Given the description of an element on the screen output the (x, y) to click on. 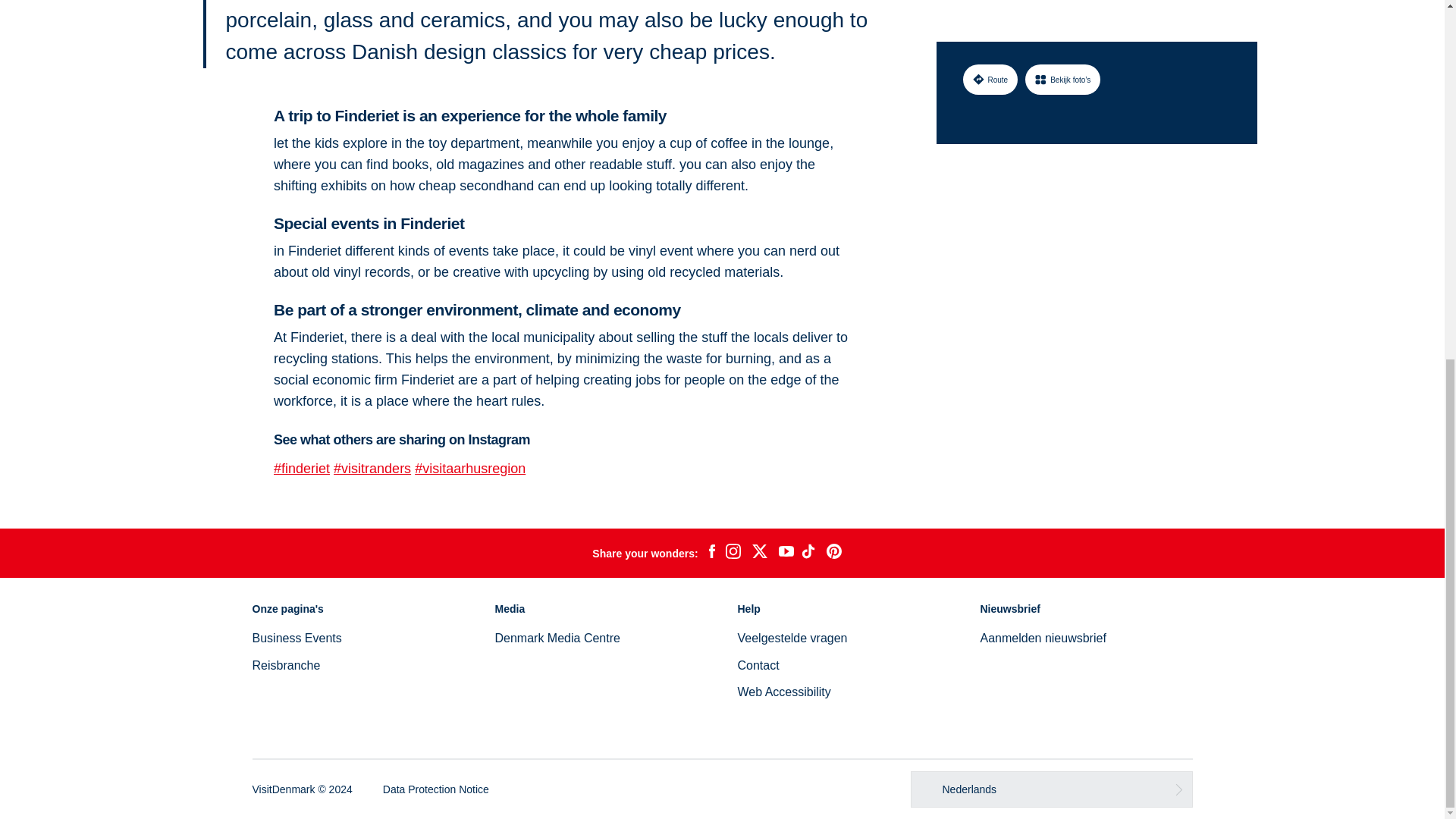
Reisbranche (285, 665)
Web Accessibility (782, 691)
Veelgestelde vragen (791, 637)
Data Protection Notice (435, 789)
Business Events (295, 637)
Aanmelden nieuwsbrief (1042, 637)
Contact (757, 665)
Web Accessibility (782, 691)
tiktok (810, 553)
Veelgestelde vragen (791, 637)
facebook (711, 553)
Denmark Media Centre (557, 637)
Contact (757, 665)
pinterest (834, 553)
instagram (732, 553)
